Given the description of an element on the screen output the (x, y) to click on. 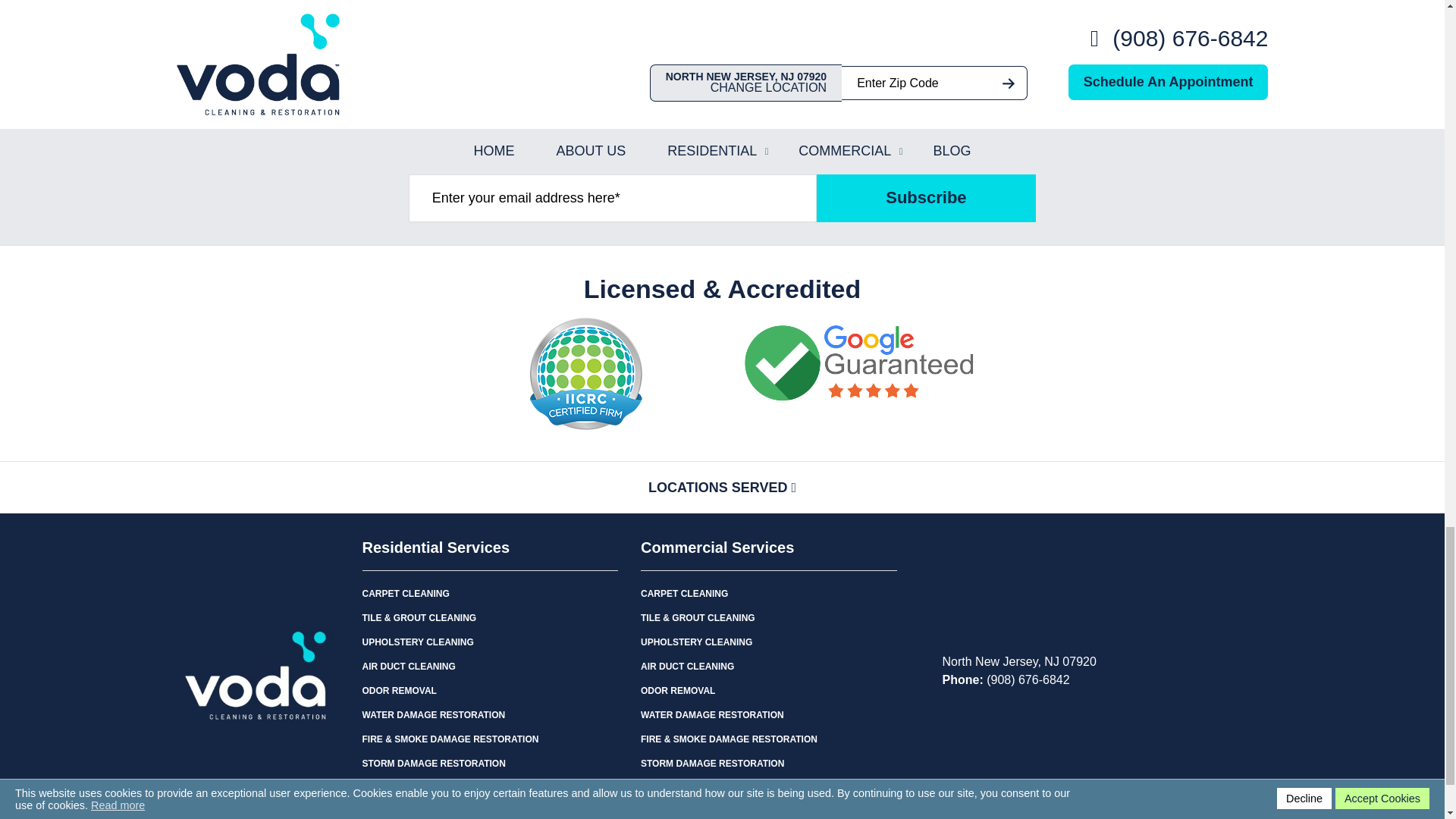
Subscribe (926, 197)
Subscribe (926, 197)
